Given the description of an element on the screen output the (x, y) to click on. 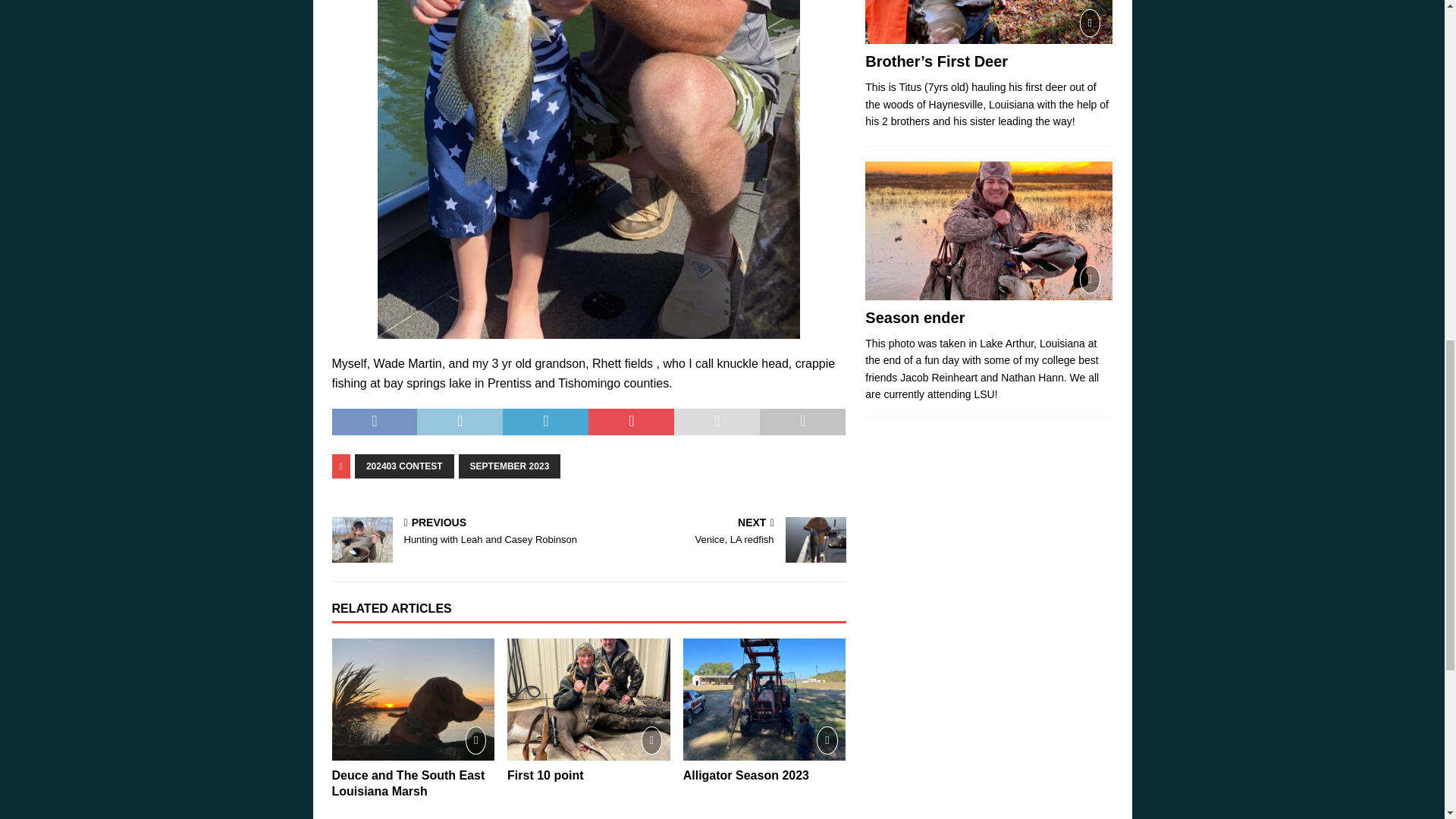
First 10 point (587, 699)
Deuce and The South East Louisiana Marsh (413, 699)
Alligator Season 2023 (745, 775)
Alligator Season 2023 (763, 699)
First 10 point (544, 775)
Deuce and The South East Louisiana Marsh (407, 783)
